Given the description of an element on the screen output the (x, y) to click on. 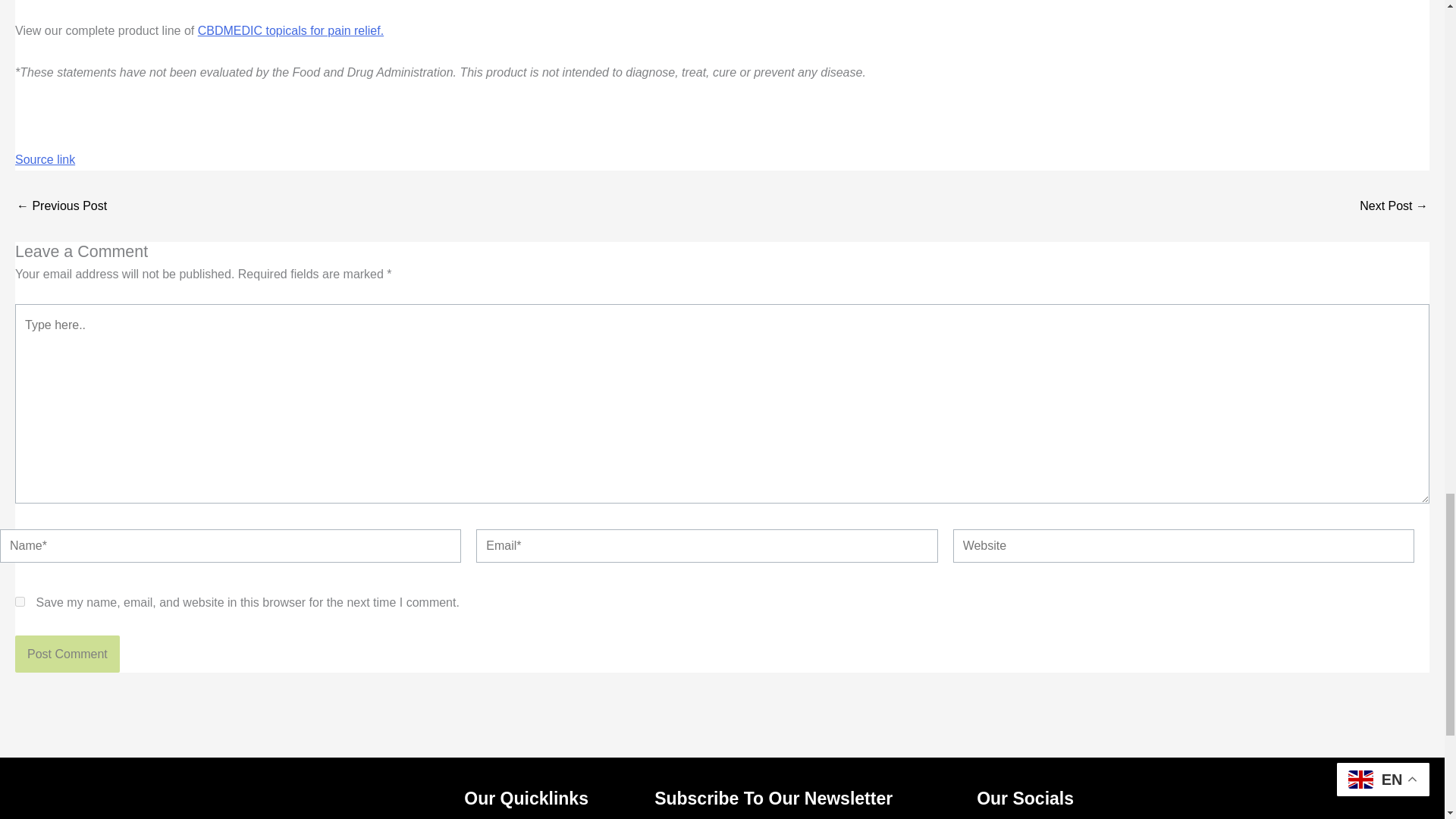
Post Comment (66, 653)
yes (19, 601)
Common Causes and Triggers of Eczema (1393, 205)
